Given the description of an element on the screen output the (x, y) to click on. 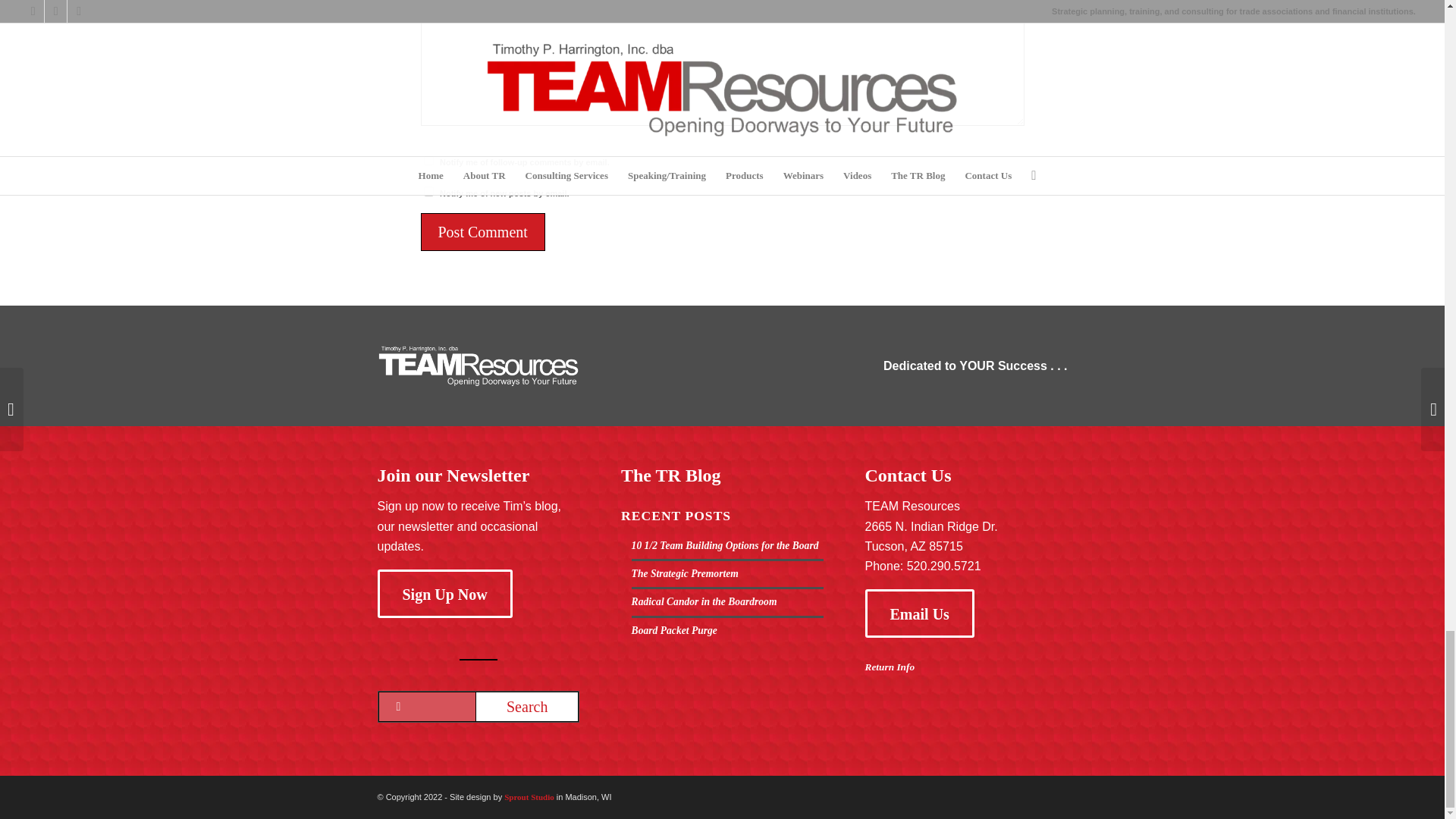
Post Comment (482, 231)
Search (527, 706)
subscribe (427, 191)
subscribe (427, 160)
